Given the description of an element on the screen output the (x, y) to click on. 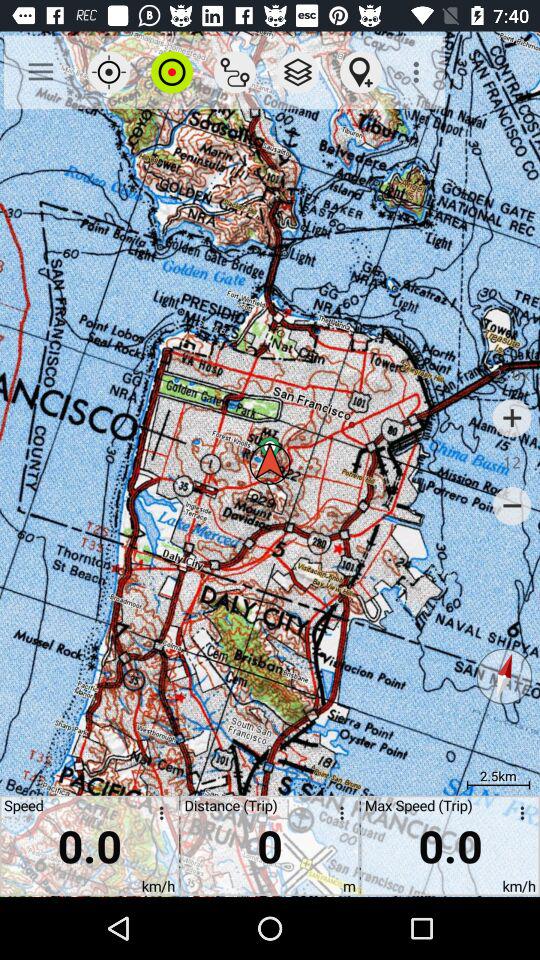
choose item above 0 (360, 71)
